Given the description of an element on the screen output the (x, y) to click on. 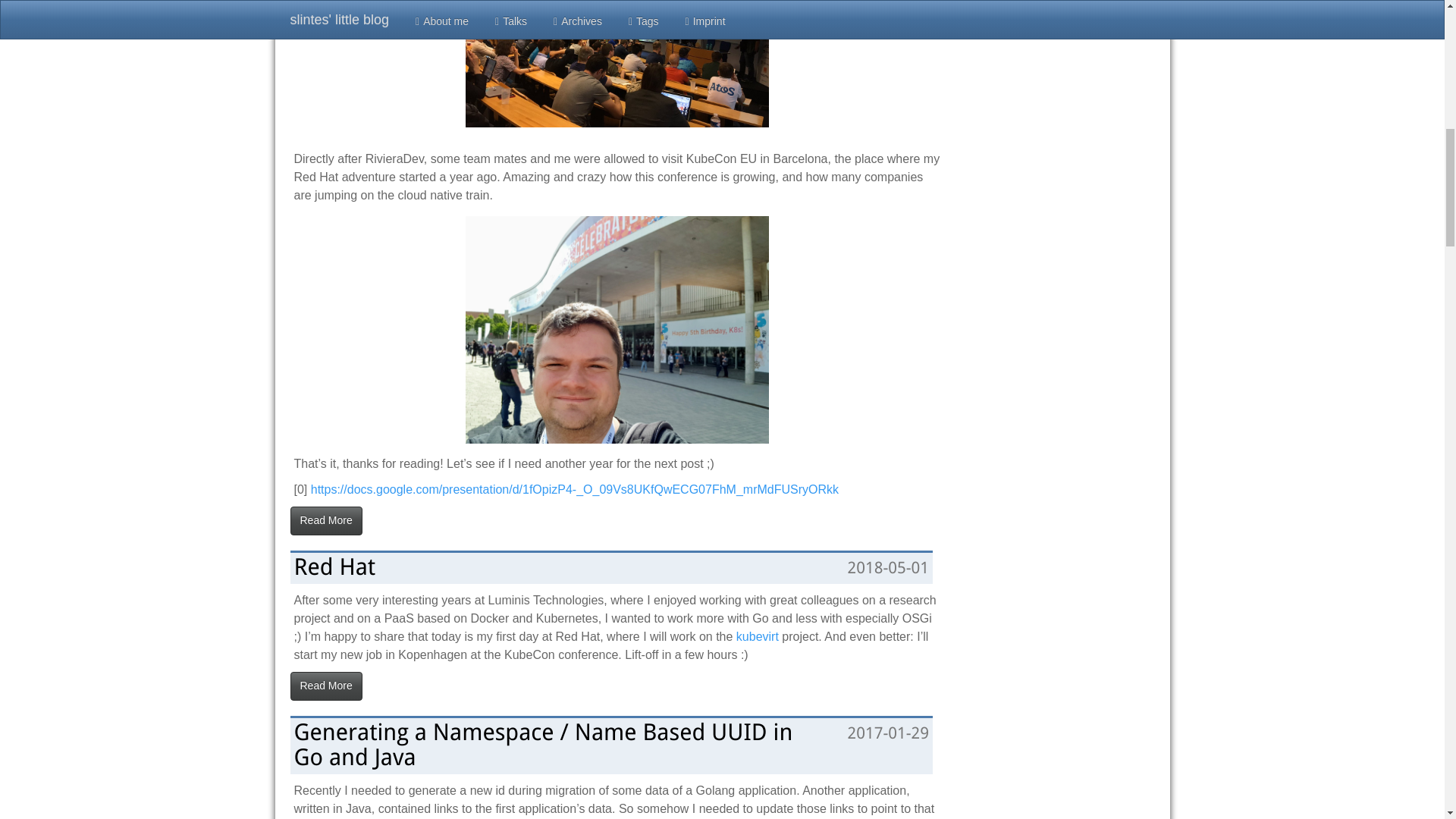
Read More (325, 686)
Read More (325, 520)
RivieraDev (616, 63)
KubeCon (616, 329)
Red Hat (334, 566)
kubevirt (757, 635)
